Given the description of an element on the screen output the (x, y) to click on. 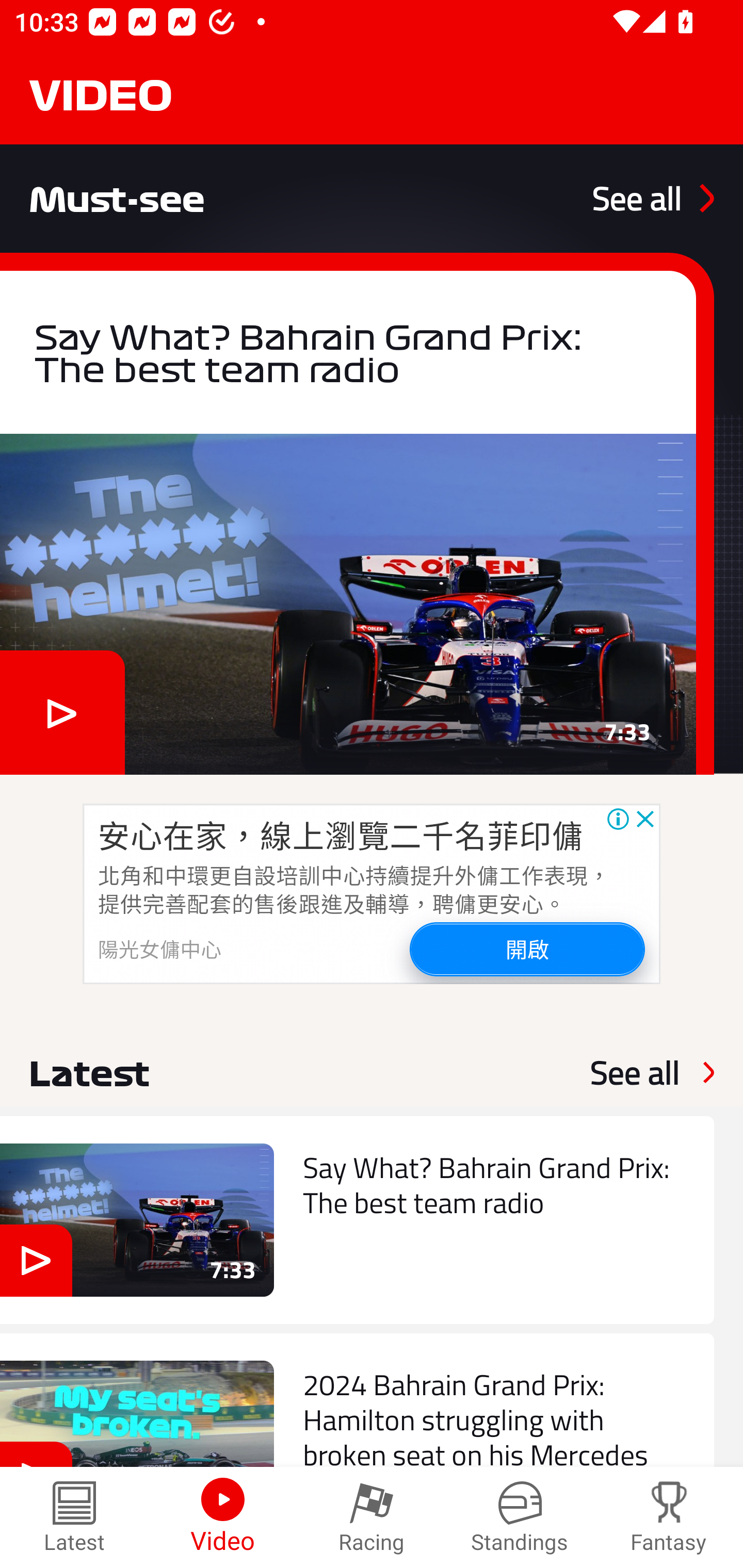
See all (653, 198)
安心在家，線上瀏覽二千名菲印傭 (340, 834)
開啟 (526, 948)
陽光女傭中心 (160, 948)
See all (634, 1072)
Latest (74, 1517)
Racing (371, 1517)
Standings (519, 1517)
Fantasy (668, 1517)
